Given the description of an element on the screen output the (x, y) to click on. 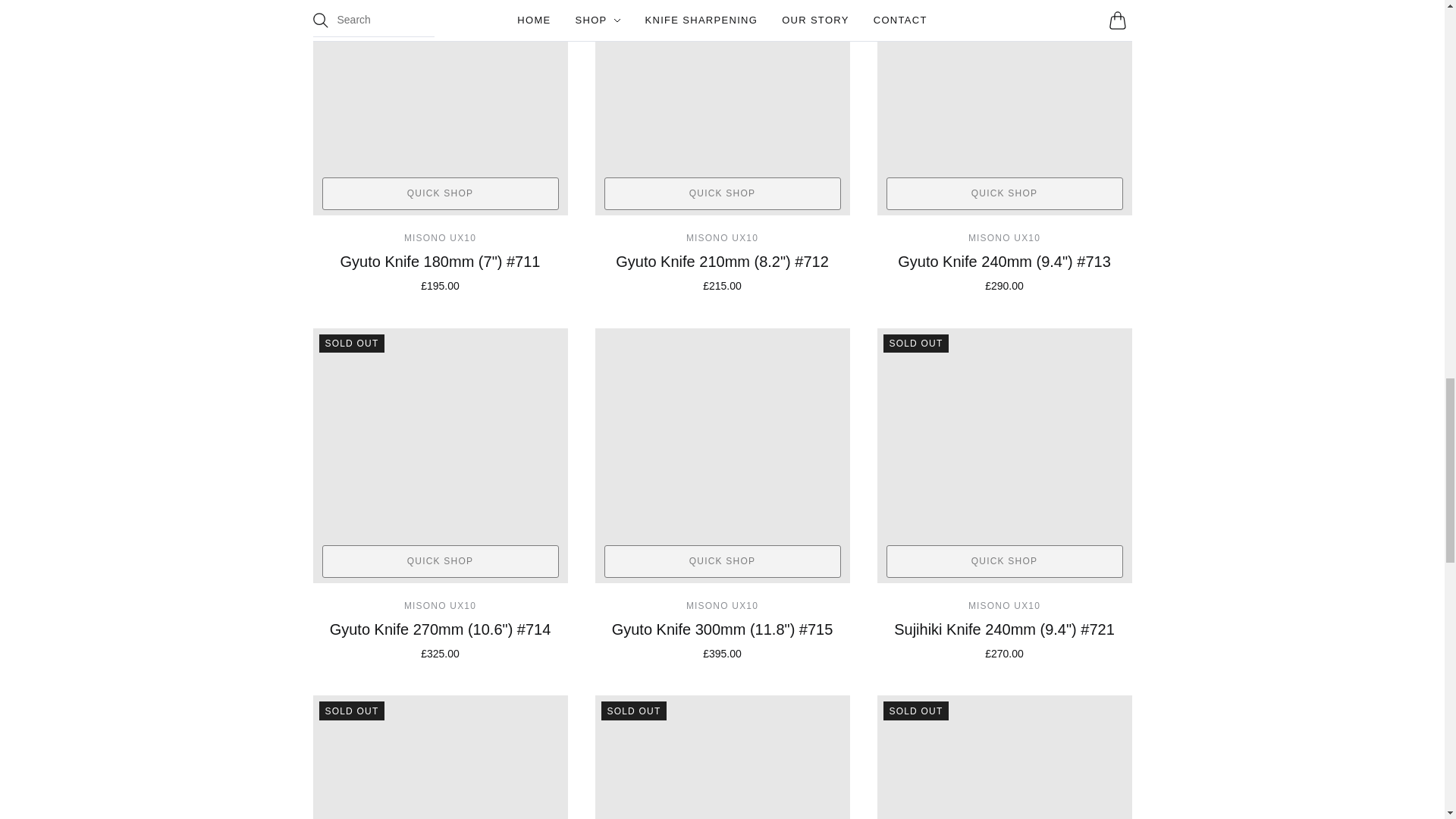
Misono UX10 (1004, 605)
Misono UX10 (721, 605)
Misono UX10 (440, 605)
Misono UX10 (440, 237)
Misono UX10 (721, 237)
Misono UX10 (1004, 237)
